Given the description of an element on the screen output the (x, y) to click on. 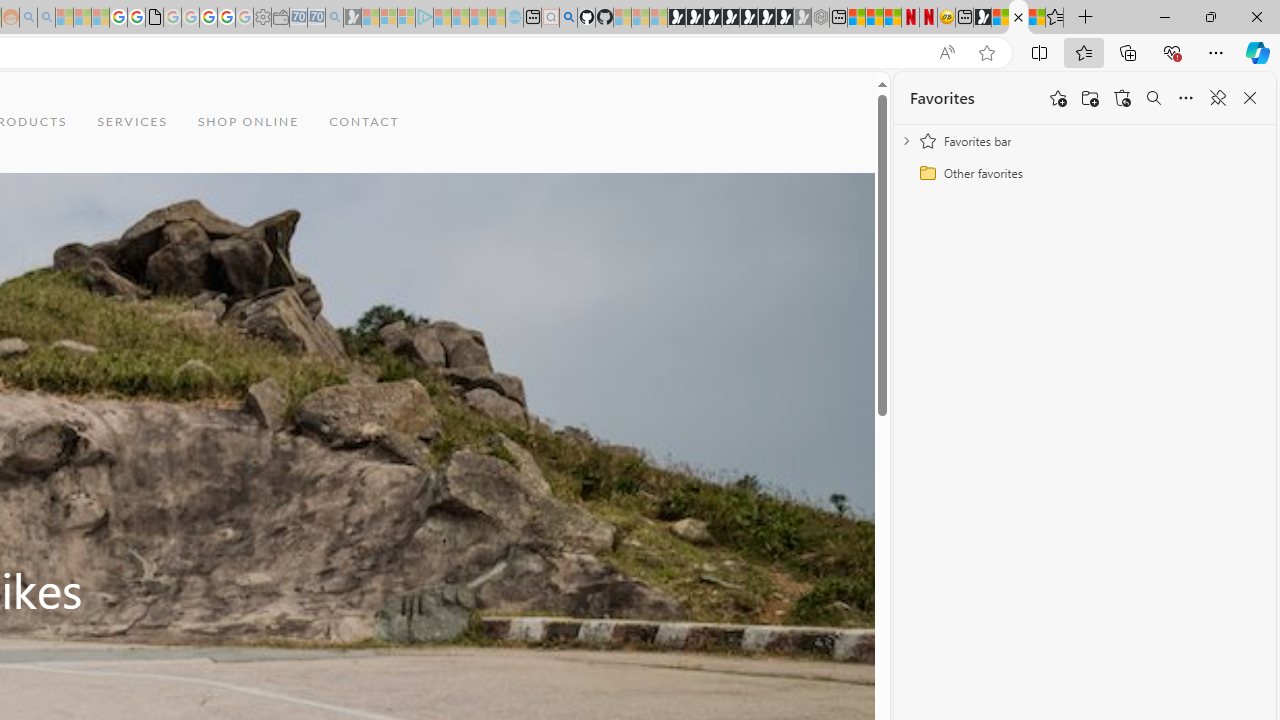
Microsoft account | Privacy - Sleeping (406, 17)
CONTACT (363, 122)
SHOP ONLINE (247, 122)
Add folder (1089, 98)
Microsoft Start Gaming - Sleeping (352, 17)
SHOP ONLINE (247, 122)
